Given the description of an element on the screen output the (x, y) to click on. 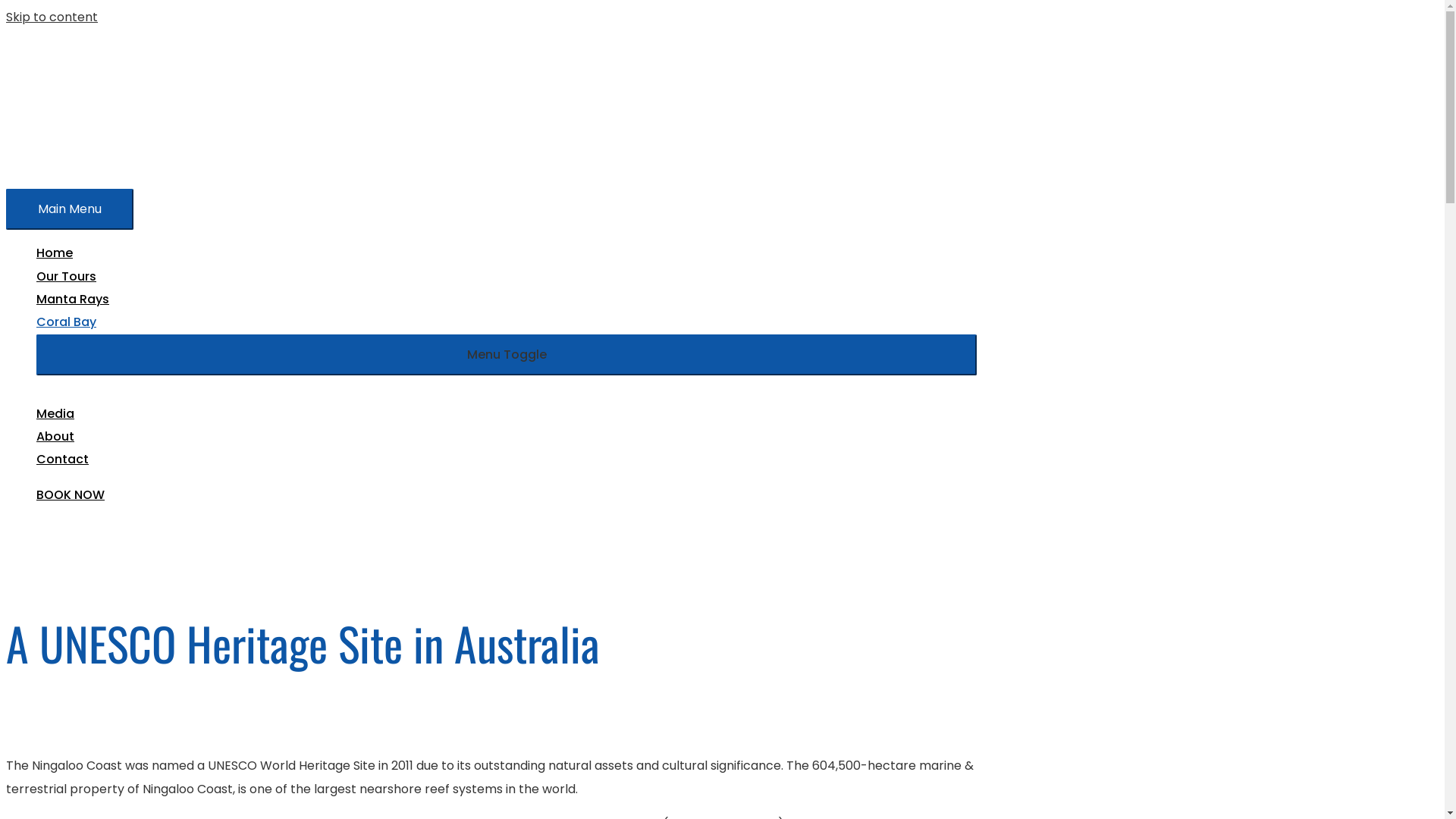
Menu Toggle Element type: text (506, 354)
Coral Bay Element type: text (506, 321)
Media Element type: text (506, 413)
Skip to content Element type: text (51, 16)
Home Element type: text (506, 252)
Our Tours Element type: text (506, 276)
Main Menu Element type: text (69, 208)
Manta Rays Element type: text (506, 299)
About Element type: text (506, 436)
Contact Element type: text (506, 459)
BOOK NOW Element type: text (70, 494)
